Given the description of an element on the screen output the (x, y) to click on. 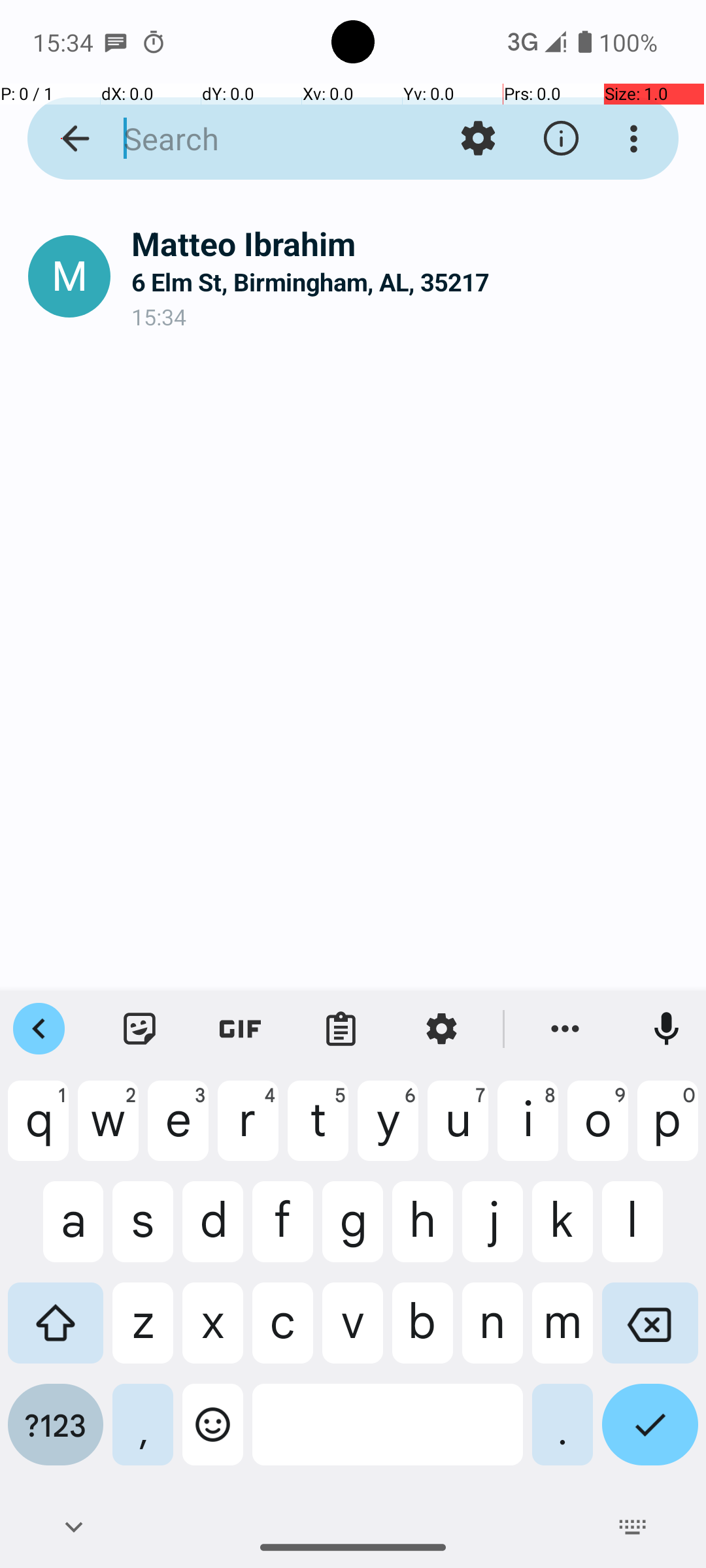
Matteo Ibrahim Element type: android.widget.TextView (408, 242)
6 Elm St, Birmingham, AL, 35217 Element type: android.widget.TextView (408, 281)
